Given the description of an element on the screen output the (x, y) to click on. 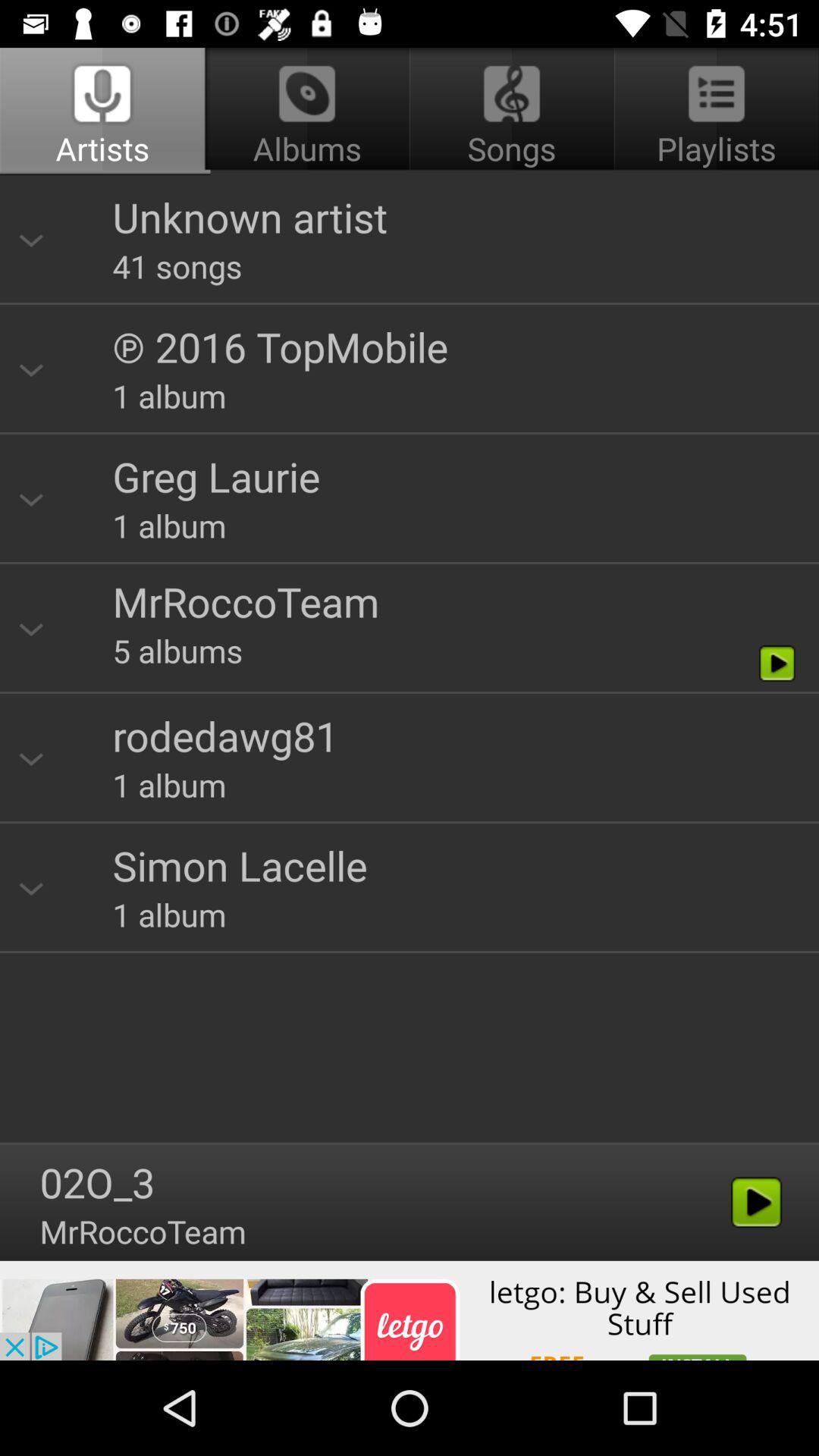
select artist (409, 654)
